Given the description of an element on the screen output the (x, y) to click on. 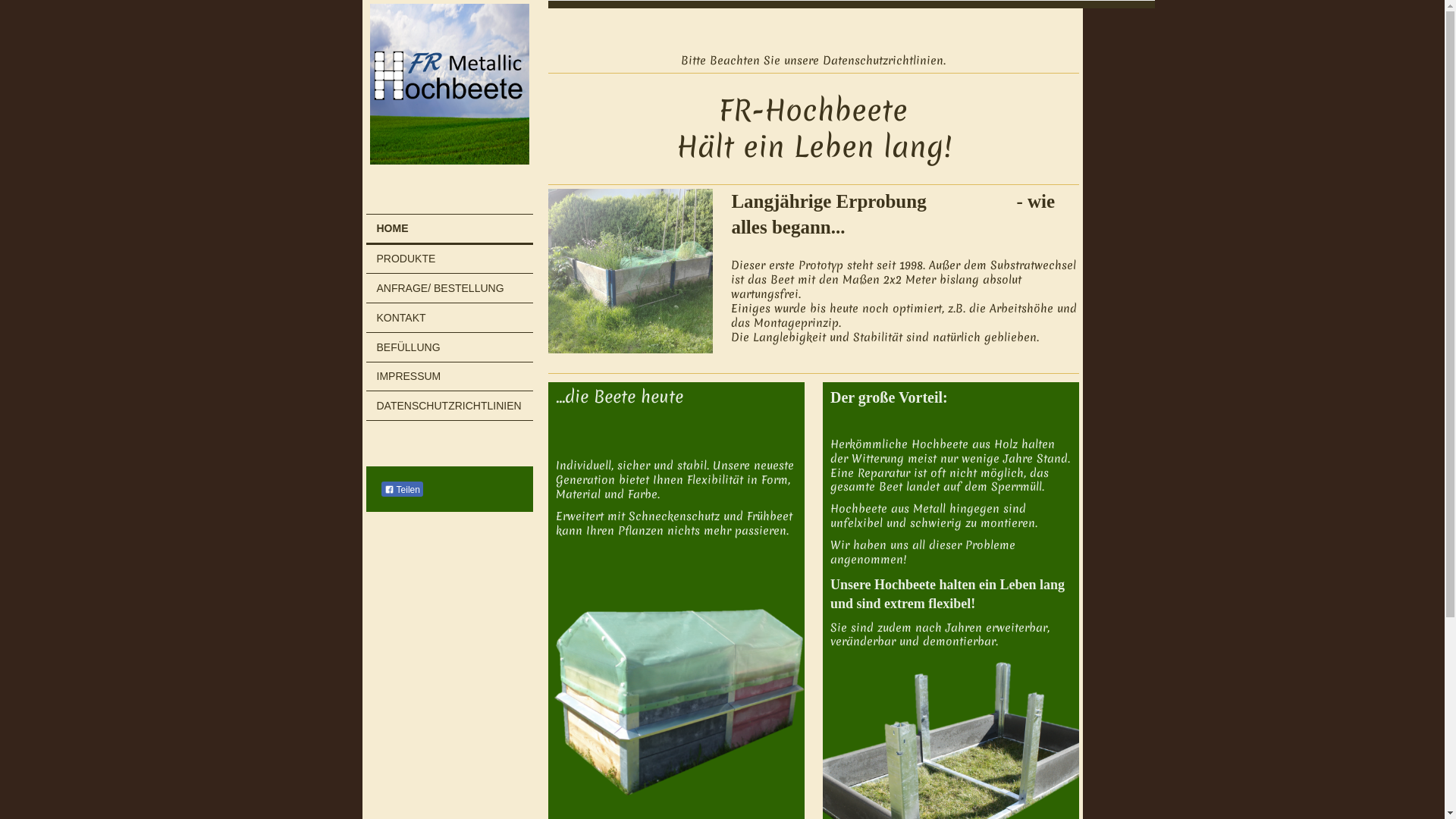
DATENSCHUTZRICHTLINIEN Element type: text (449, 405)
ANFRAGE/ BESTELLUNG Element type: text (449, 287)
PRODUKTE Element type: text (449, 258)
Teilen Element type: text (401, 488)
KONTAKT Element type: text (449, 317)
HOME Element type: text (449, 229)
IMPRESSUM Element type: text (449, 376)
